Given the description of an element on the screen output the (x, y) to click on. 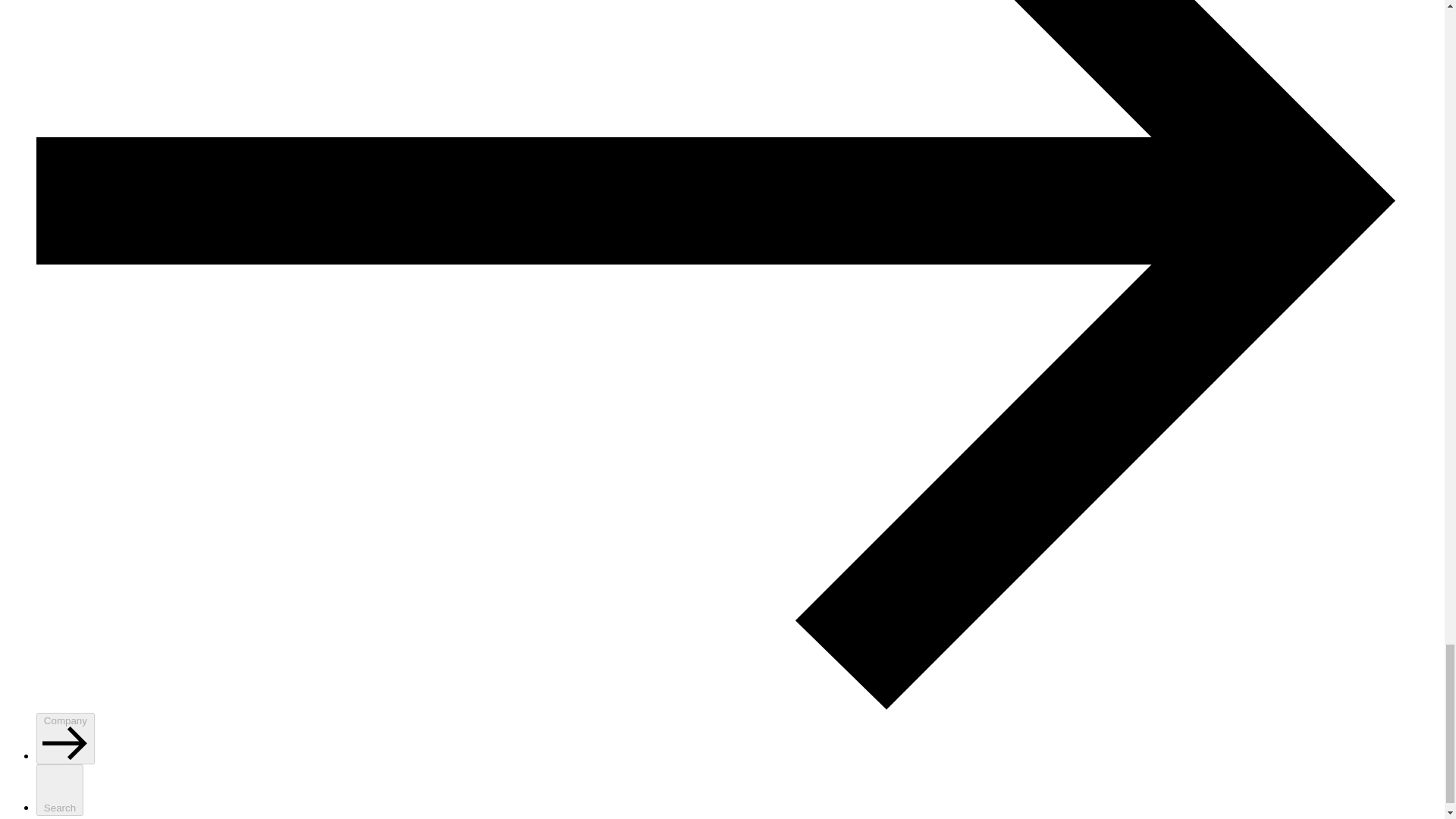
Search (59, 789)
Company (65, 738)
Search (59, 789)
